Given the description of an element on the screen output the (x, y) to click on. 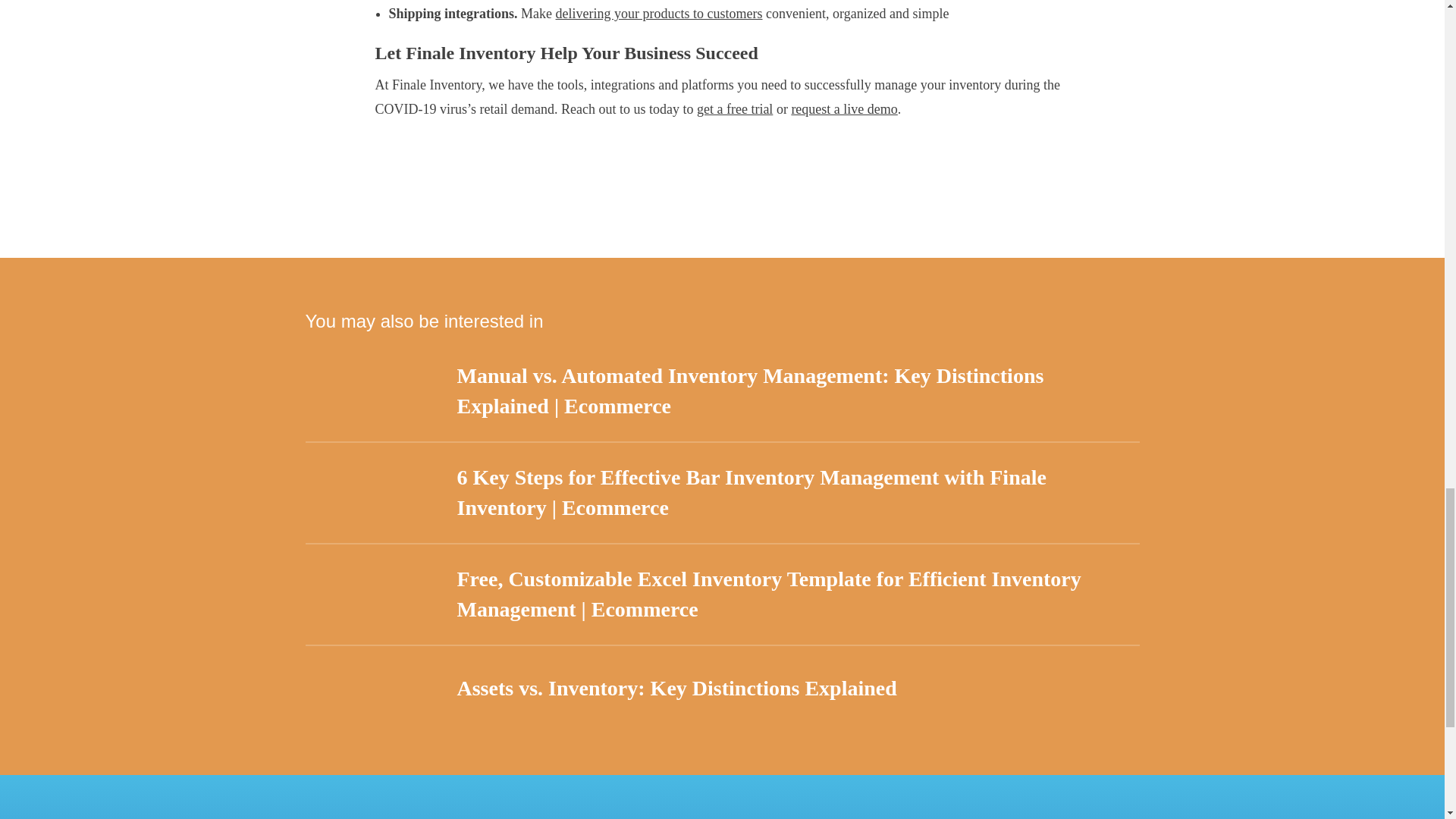
Assets vs. Inventory: Key Distinctions Explained (721, 688)
request a live demo (843, 109)
delivering your products to customers (659, 13)
get a free trial (735, 109)
